Given the description of an element on the screen output the (x, y) to click on. 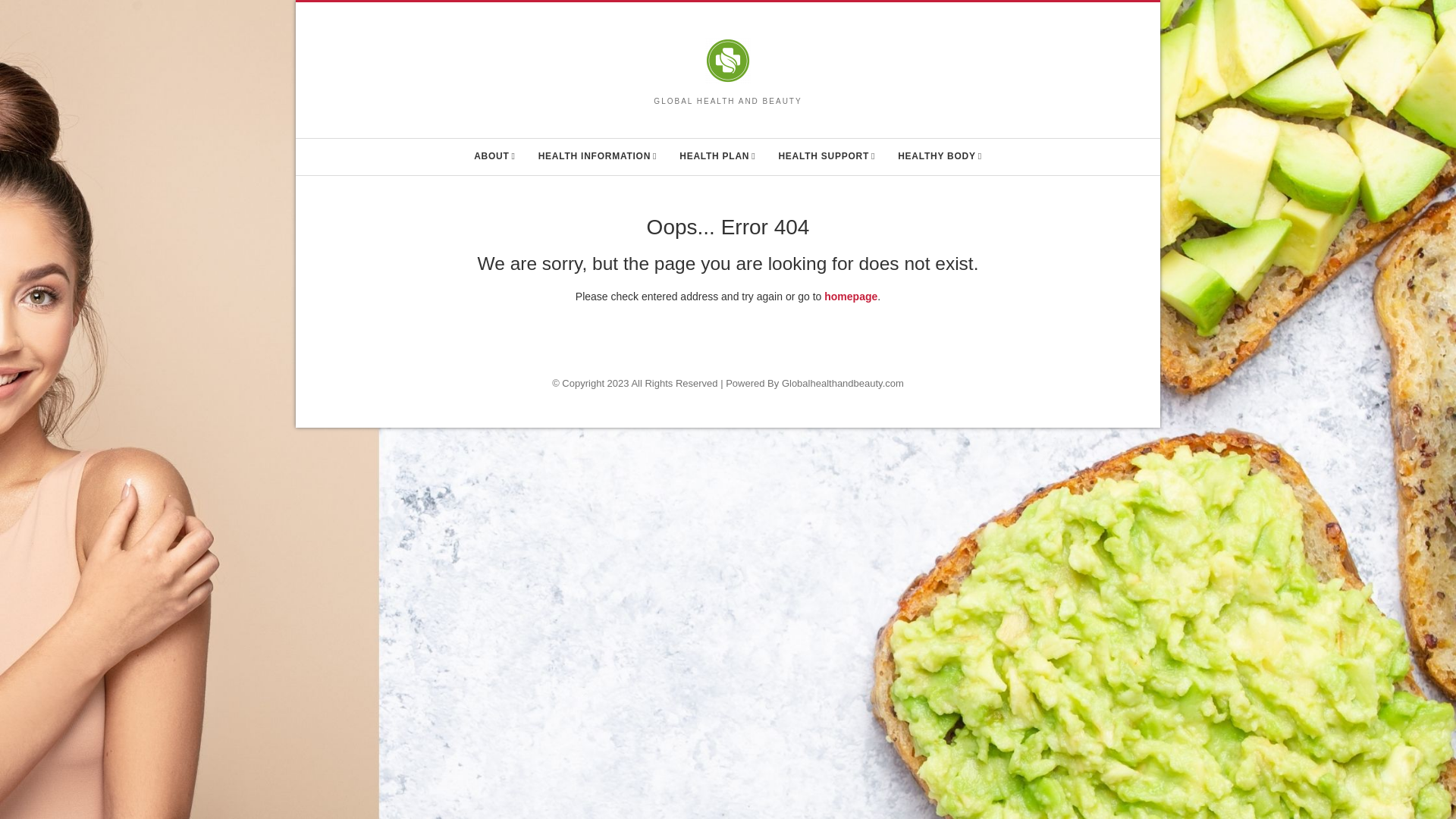
HEALTH INFORMATION (597, 156)
ABOUT (495, 156)
HEALTH PLAN (717, 156)
